Given the description of an element on the screen output the (x, y) to click on. 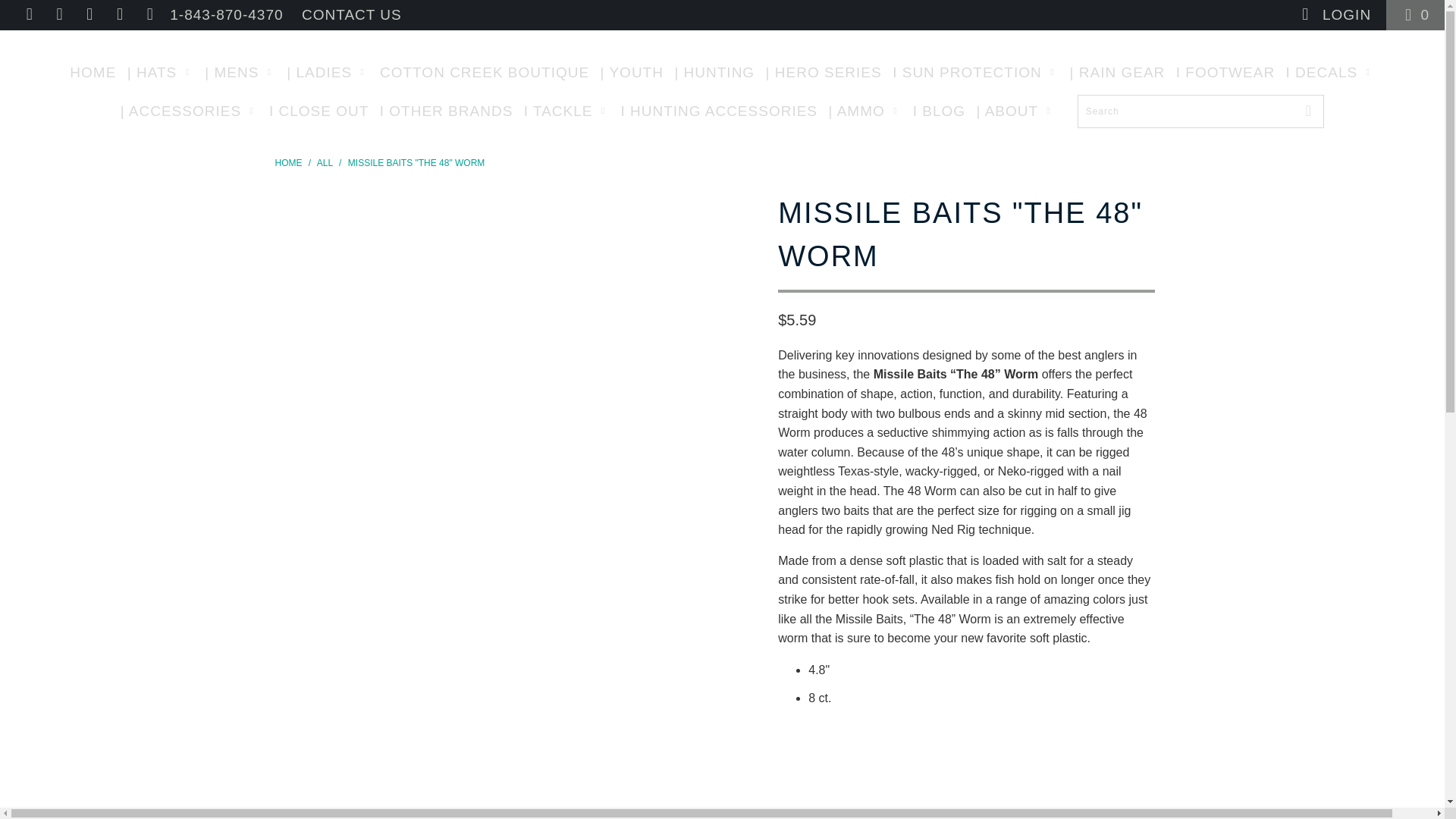
Phantom Outdoors (288, 163)
Phantom Outdoors on Facebook (58, 14)
My Account  (1334, 15)
Phantom Outdoors on Twitter (27, 14)
Phantom Outdoors on Instagram (118, 14)
All (325, 163)
Phantom Outdoors (722, 41)
Email Phantom Outdoors (148, 14)
Phantom Outdoors on YouTube (87, 14)
